Given the description of an element on the screen output the (x, y) to click on. 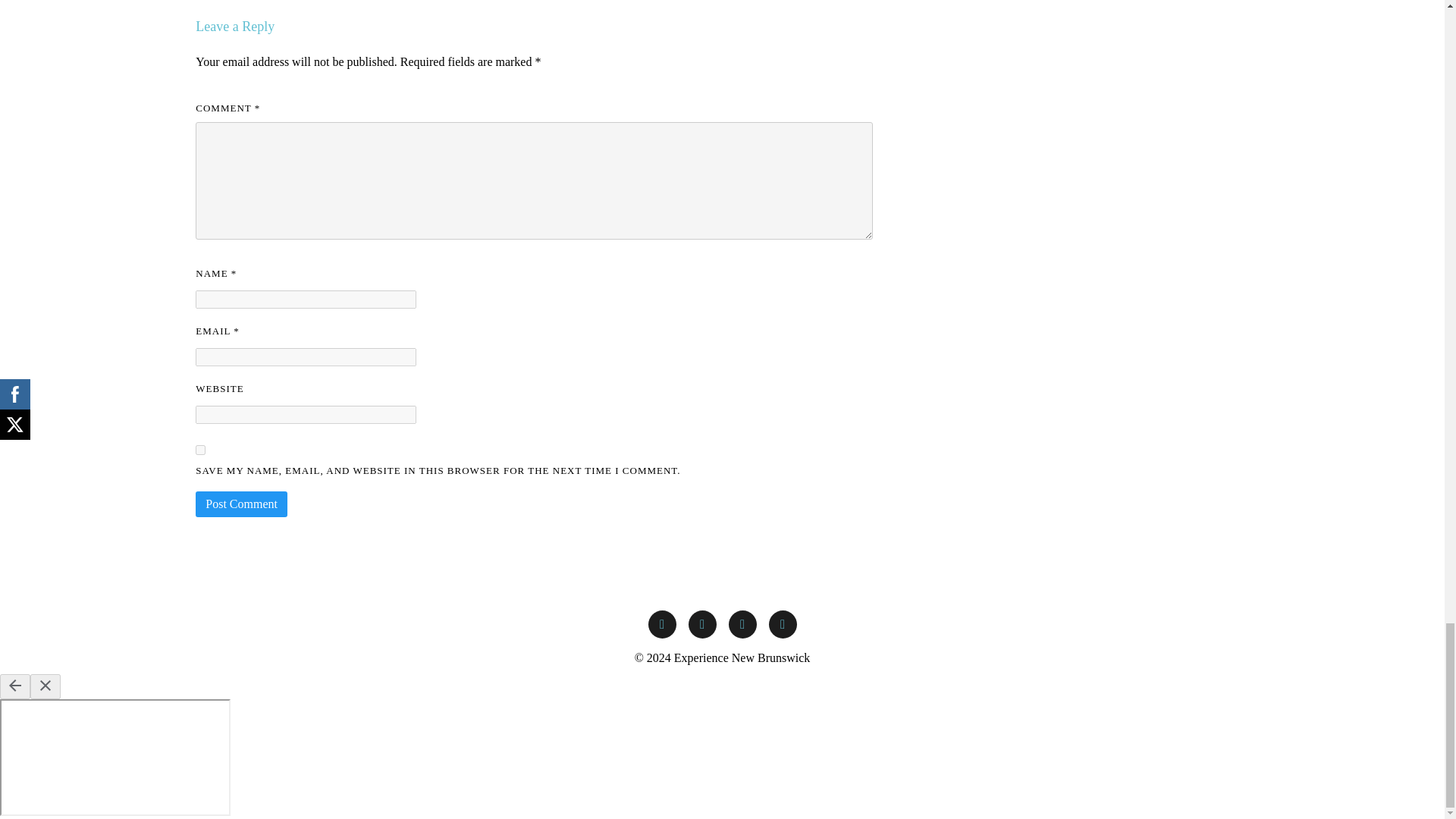
Post Comment (240, 503)
Post Comment (240, 503)
yes (200, 450)
